Given the description of an element on the screen output the (x, y) to click on. 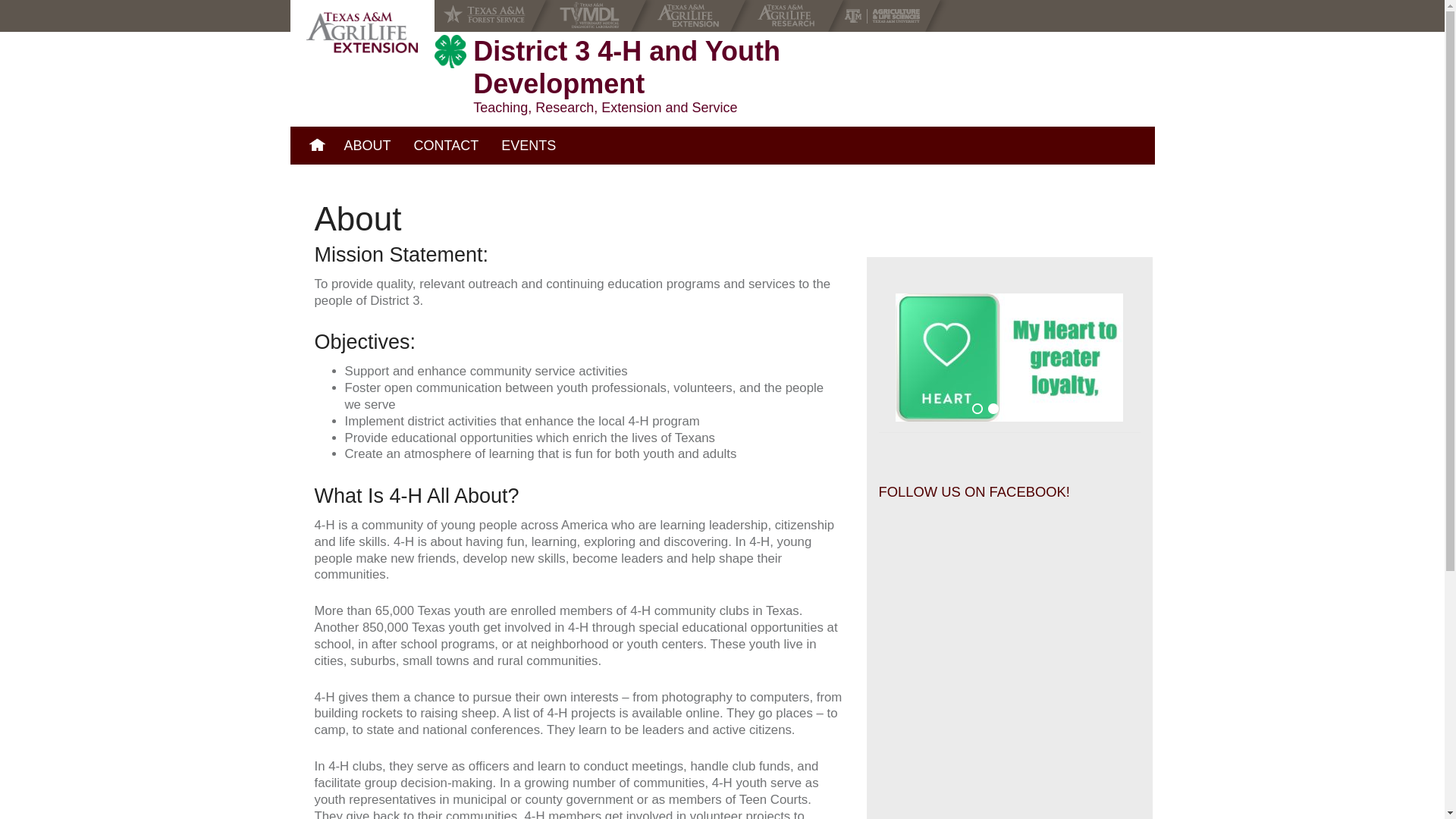
4-H (449, 51)
District 3 4-H and Youth Development (361, 32)
CONTACT (446, 145)
EVENTS (528, 145)
ABOUT (366, 145)
